Given the description of an element on the screen output the (x, y) to click on. 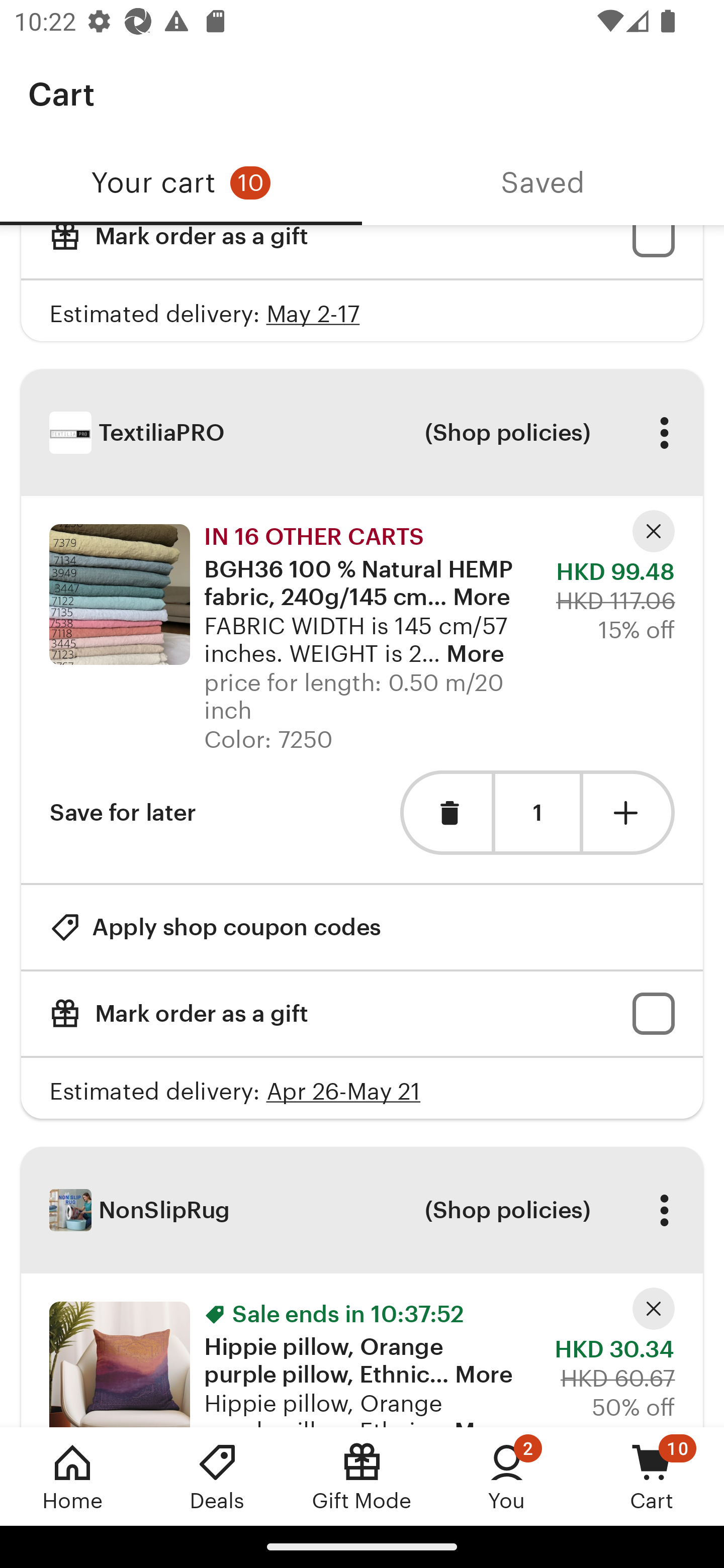
Saved, tab 2 of 2 Saved (543, 183)
Mark order as a gift (361, 252)
TextiliaPRO (Shop policies) More options (361, 432)
(Shop policies) (507, 432)
More options (663, 432)
Save for later (122, 811)
Remove item from cart (445, 811)
Add one unit to cart (628, 811)
1 (537, 813)
Apply shop coupon codes (215, 926)
Mark order as a gift (361, 1013)
NonSlipRug (Shop policies) More options (361, 1209)
(Shop policies) (507, 1210)
More options (663, 1210)
Home (72, 1475)
Deals (216, 1475)
Gift Mode (361, 1475)
You, 2 new notifications You (506, 1475)
